Given the description of an element on the screen output the (x, y) to click on. 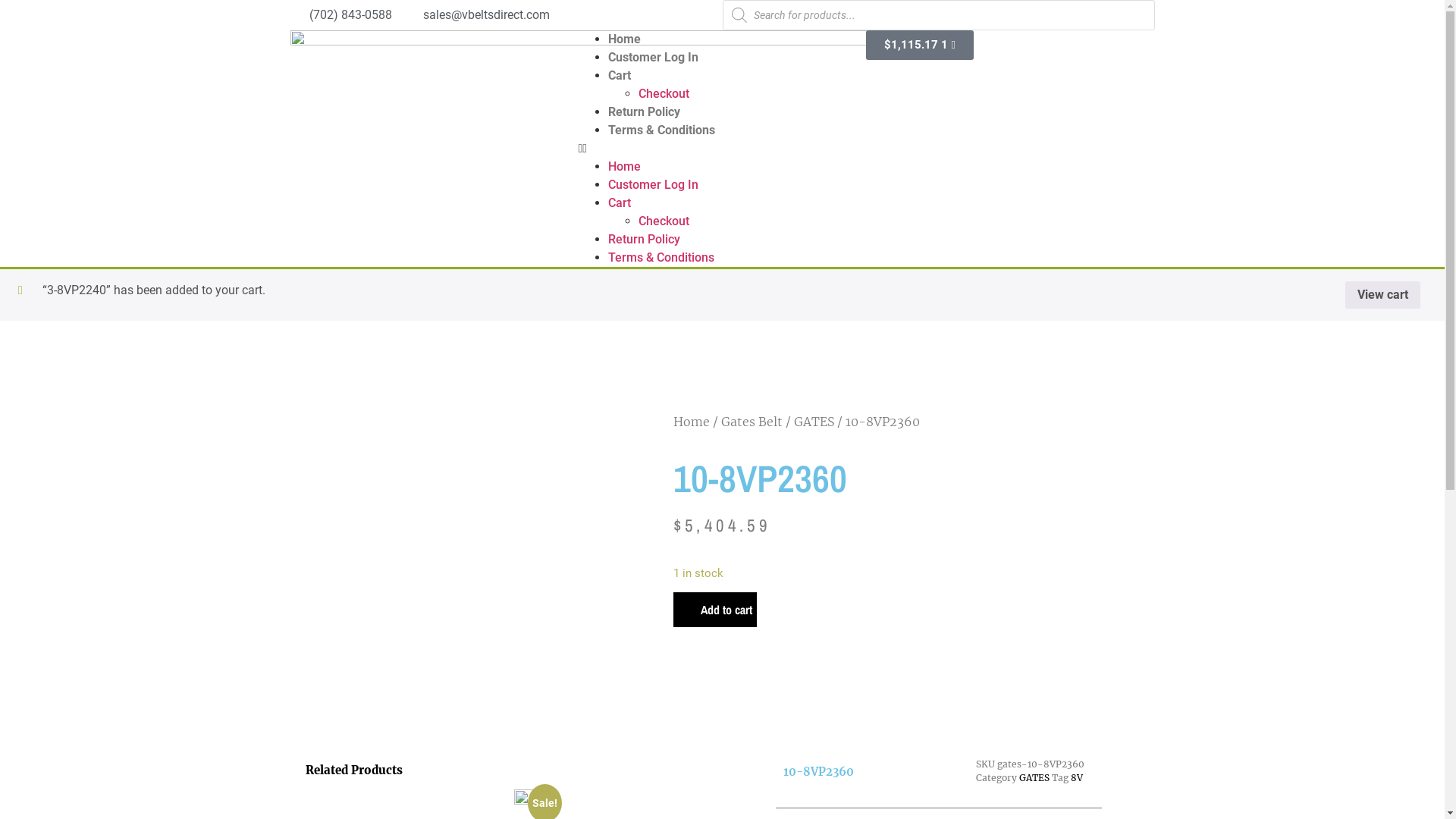
Home Element type: text (624, 38)
Terms & Conditions Element type: text (661, 257)
Checkout Element type: text (663, 220)
8V Element type: text (1076, 777)
Checkout Element type: text (663, 93)
Home Element type: text (624, 166)
GATES Element type: text (813, 421)
Customer Log In Element type: text (653, 57)
Cart Element type: text (619, 202)
Cart Element type: text (619, 75)
Return Policy Element type: text (644, 111)
Terms & Conditions Element type: text (661, 129)
sales@vbeltsdirect.com Element type: text (476, 15)
GATES Element type: text (1034, 777)
Customer Log In Element type: text (653, 184)
(702) 843-0588 Element type: text (340, 15)
$1,115.17 1 Element type: text (919, 44)
Home Element type: text (691, 421)
Add to cart Element type: text (714, 609)
Gates Belt Element type: text (750, 421)
View cart Element type: text (1382, 294)
Return Policy Element type: text (644, 239)
